Given the description of an element on the screen output the (x, y) to click on. 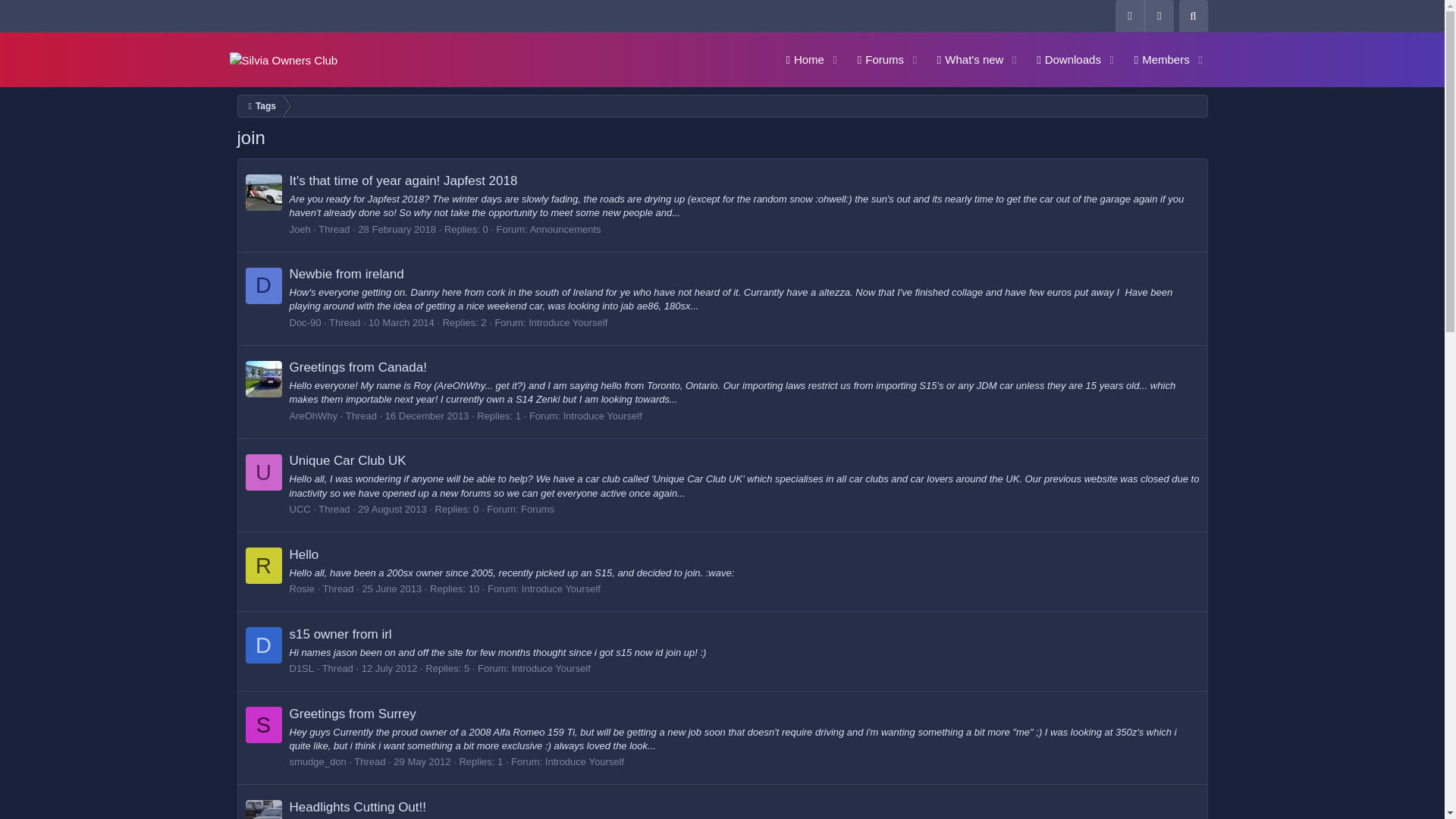
16 December 2013 at 7:58 AM (426, 415)
29 May 2012 at 12:00 PM (421, 761)
25 June 2013 at 7:21 PM (391, 588)
What's new (964, 59)
10 March 2014 at 11:31 PM (400, 322)
Members (1156, 59)
Forums (875, 59)
Home (799, 59)
29 August 2013 at 1:05 PM (392, 509)
28 February 2018 at 8:29 PM (988, 59)
Search (396, 229)
Downloads (1192, 15)
12 July 2012 at 2:12 AM (1063, 59)
